Given the description of an element on the screen output the (x, y) to click on. 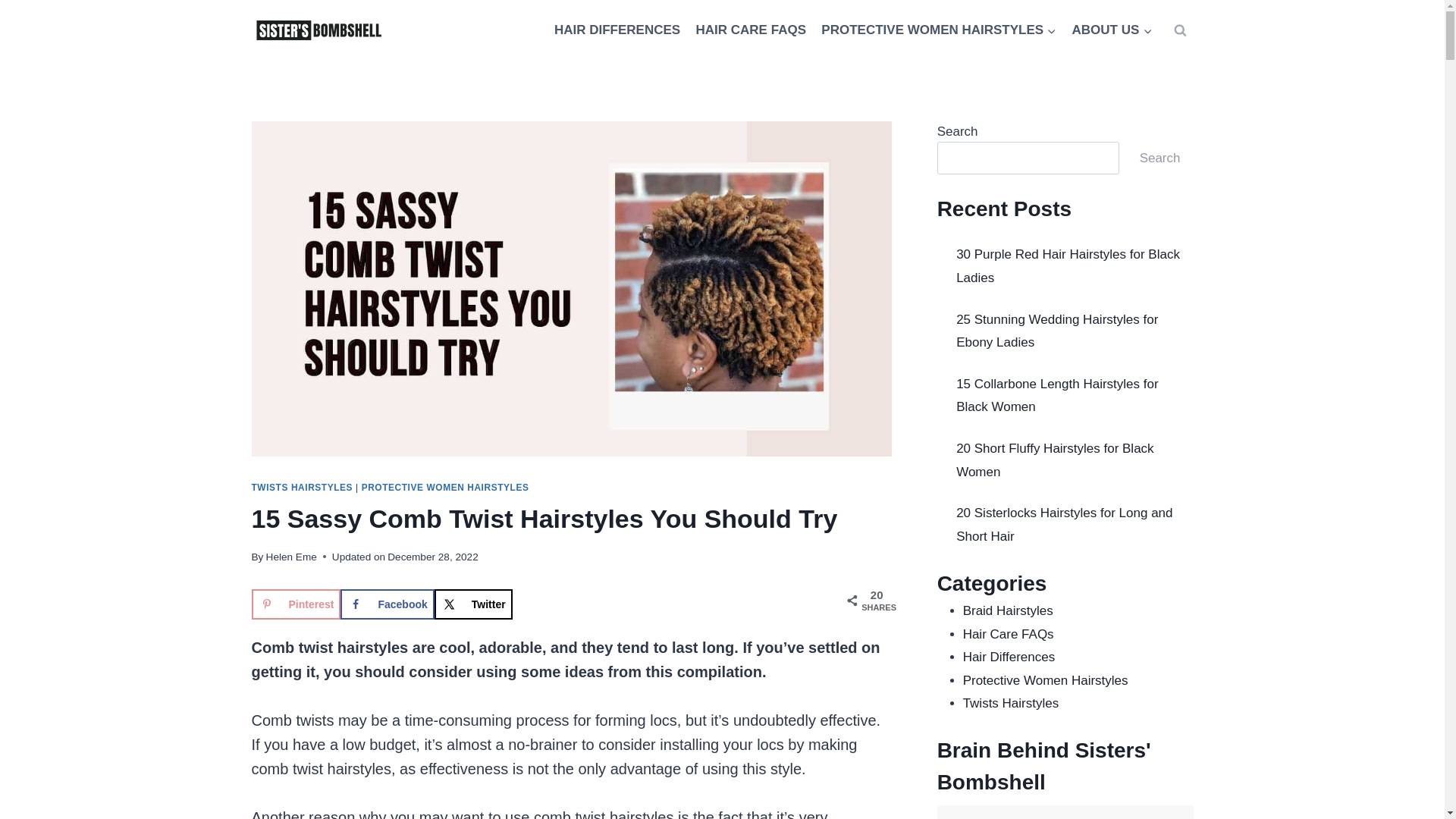
TWISTS HAIRSTYLES (302, 487)
PROTECTIVE WOMEN HAIRSTYLES (445, 487)
Save to Pinterest (295, 603)
HAIR DIFFERENCES (617, 30)
Pinterest (295, 603)
Share on Facebook (386, 603)
Facebook (386, 603)
ABOUT US (1111, 30)
PROTECTIVE WOMEN HAIRSTYLES (938, 30)
Twitter (472, 603)
Share on X (472, 603)
HAIR CARE FAQS (750, 30)
